Given the description of an element on the screen output the (x, y) to click on. 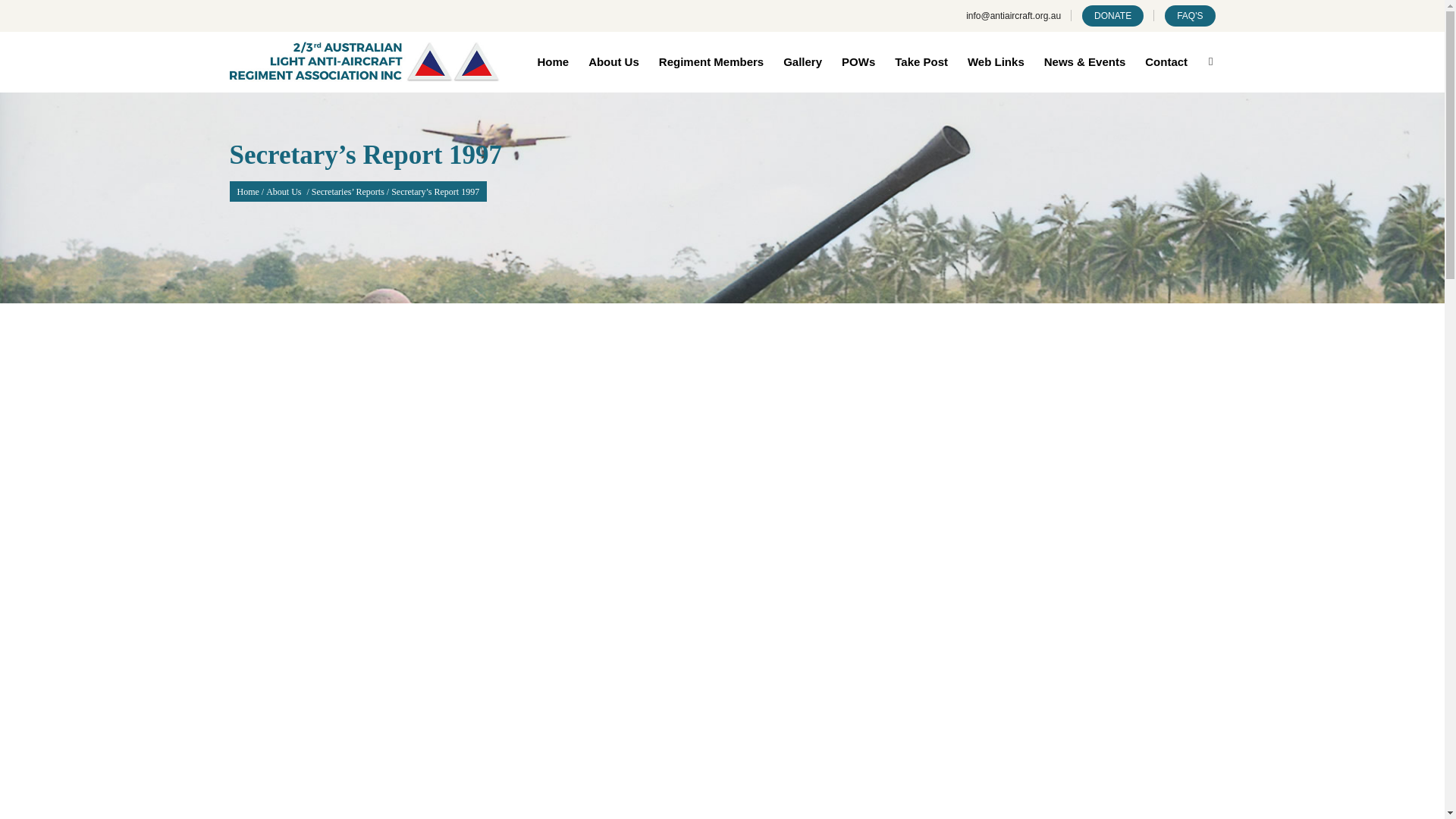
Take Post (921, 61)
About Us (613, 61)
Regiment Members (711, 61)
DONATE (1111, 15)
Gallery (802, 61)
FAQ'S (1189, 15)
Home (552, 61)
POWs (858, 61)
